Given the description of an element on the screen output the (x, y) to click on. 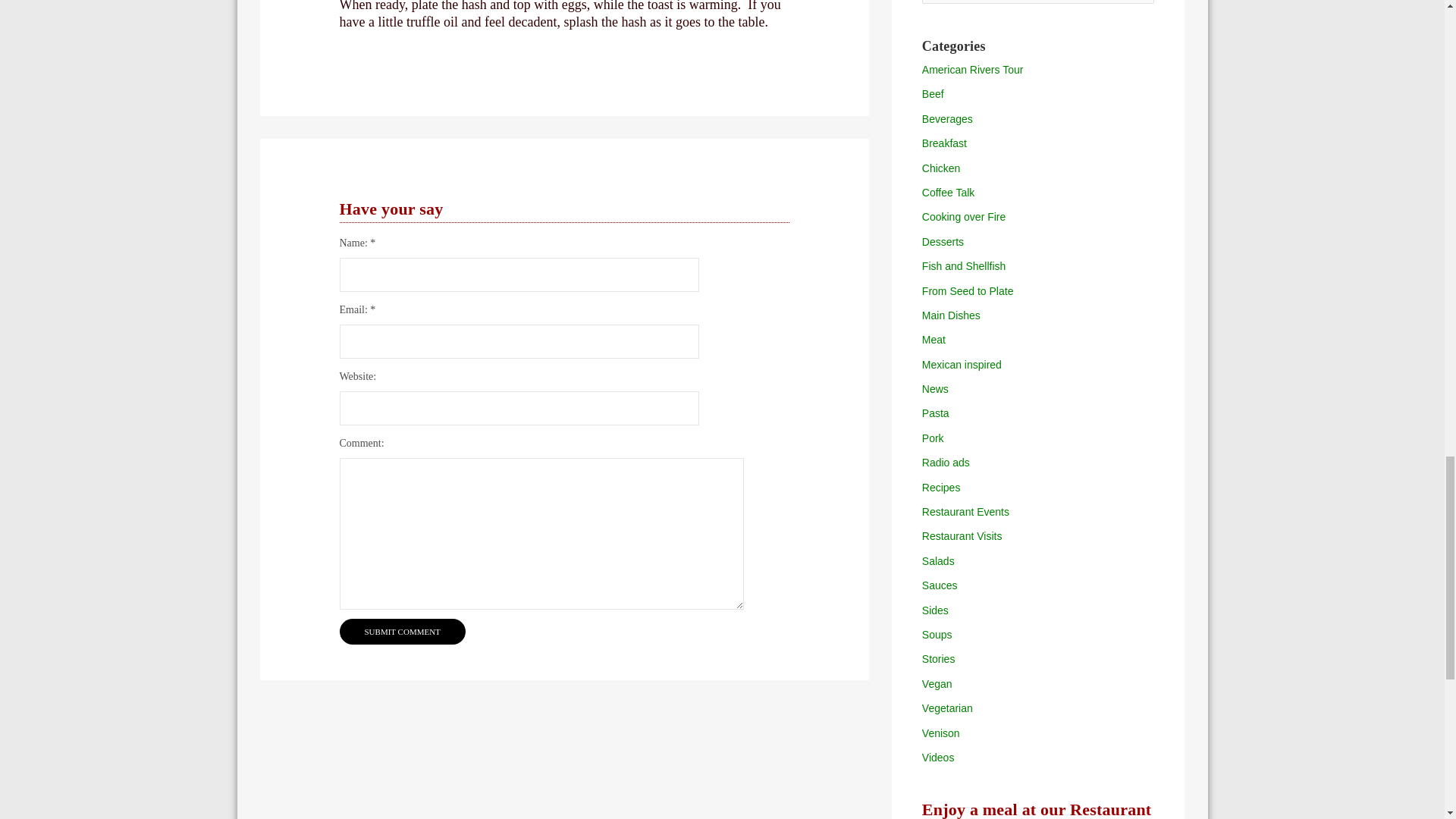
Submit Comment (402, 631)
Submit Comment (402, 631)
